Given the description of an element on the screen output the (x, y) to click on. 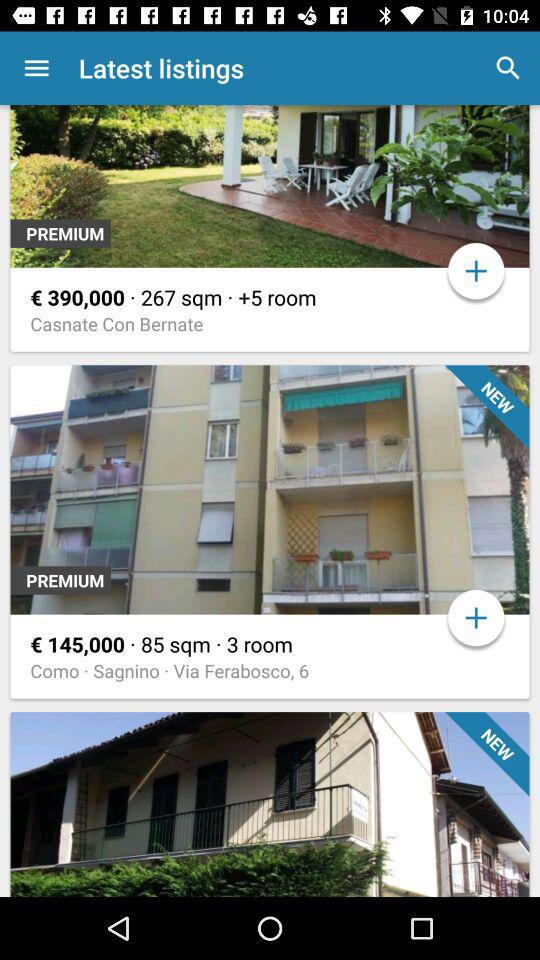
select app to the left of the latest listings icon (36, 68)
